Given the description of an element on the screen output the (x, y) to click on. 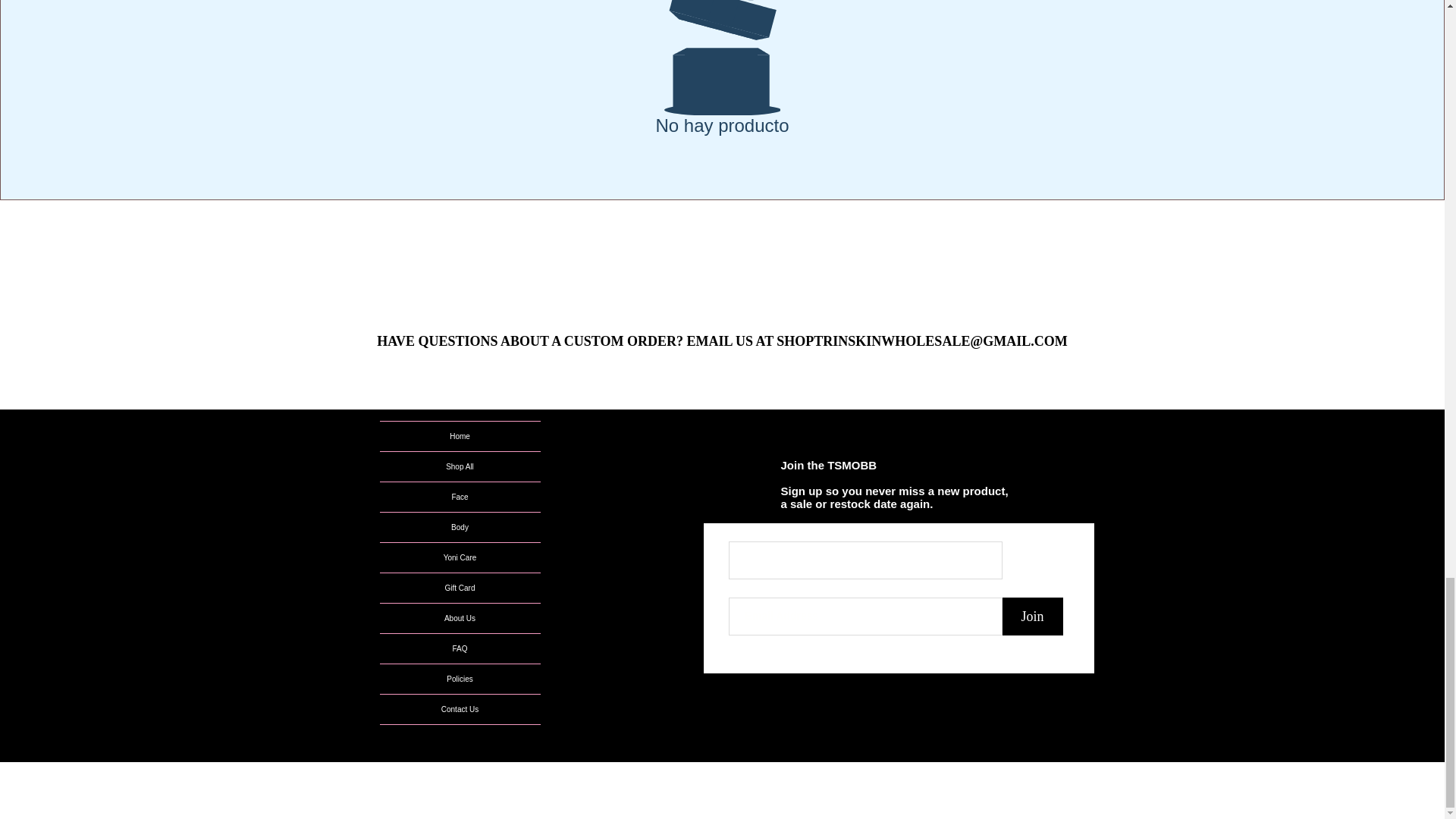
Body (459, 527)
Face (459, 496)
Home (459, 436)
Shop All (459, 466)
